Given the description of an element on the screen output the (x, y) to click on. 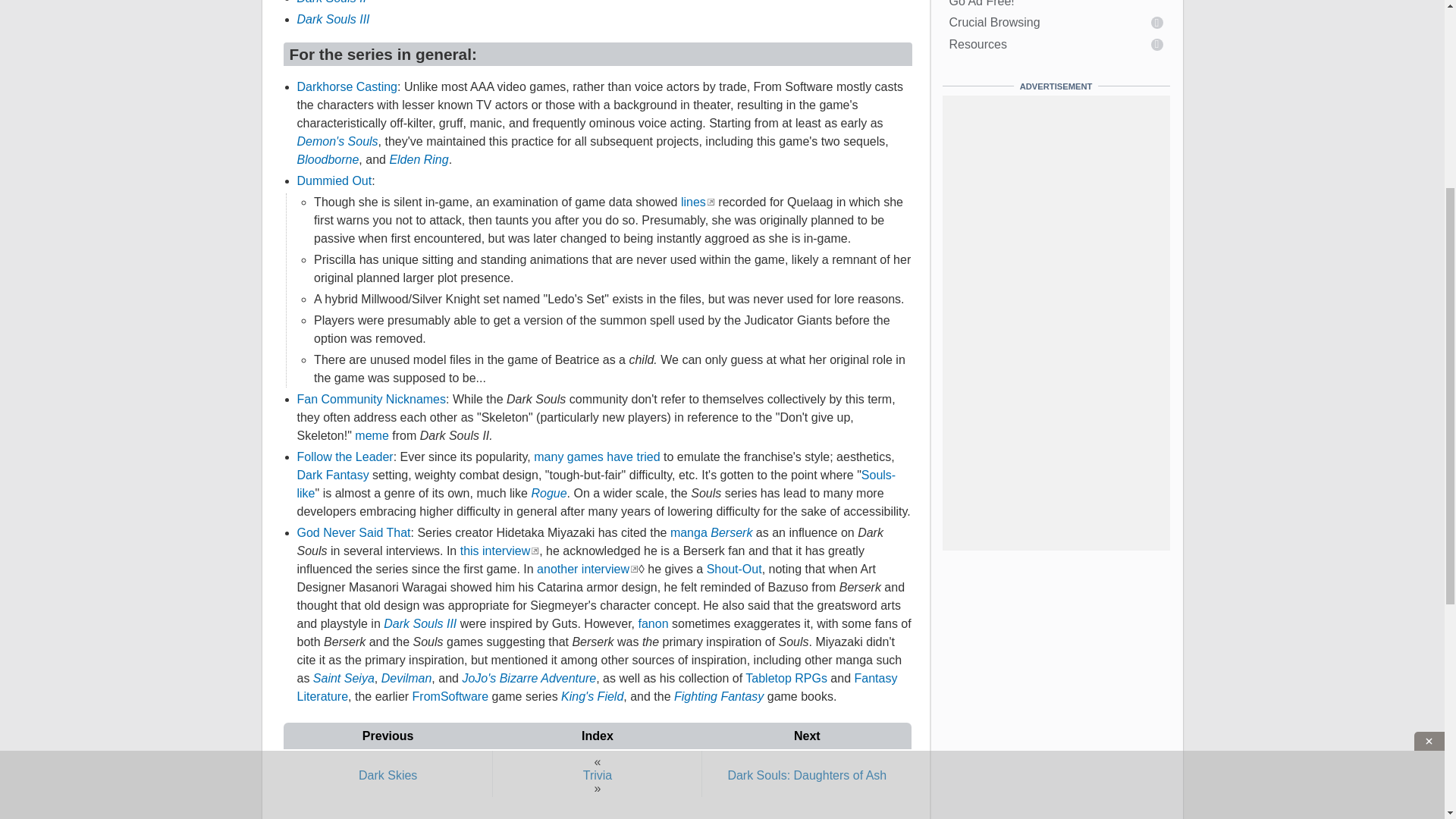
3rd party ad content (722, 436)
